Given the description of an element on the screen output the (x, y) to click on. 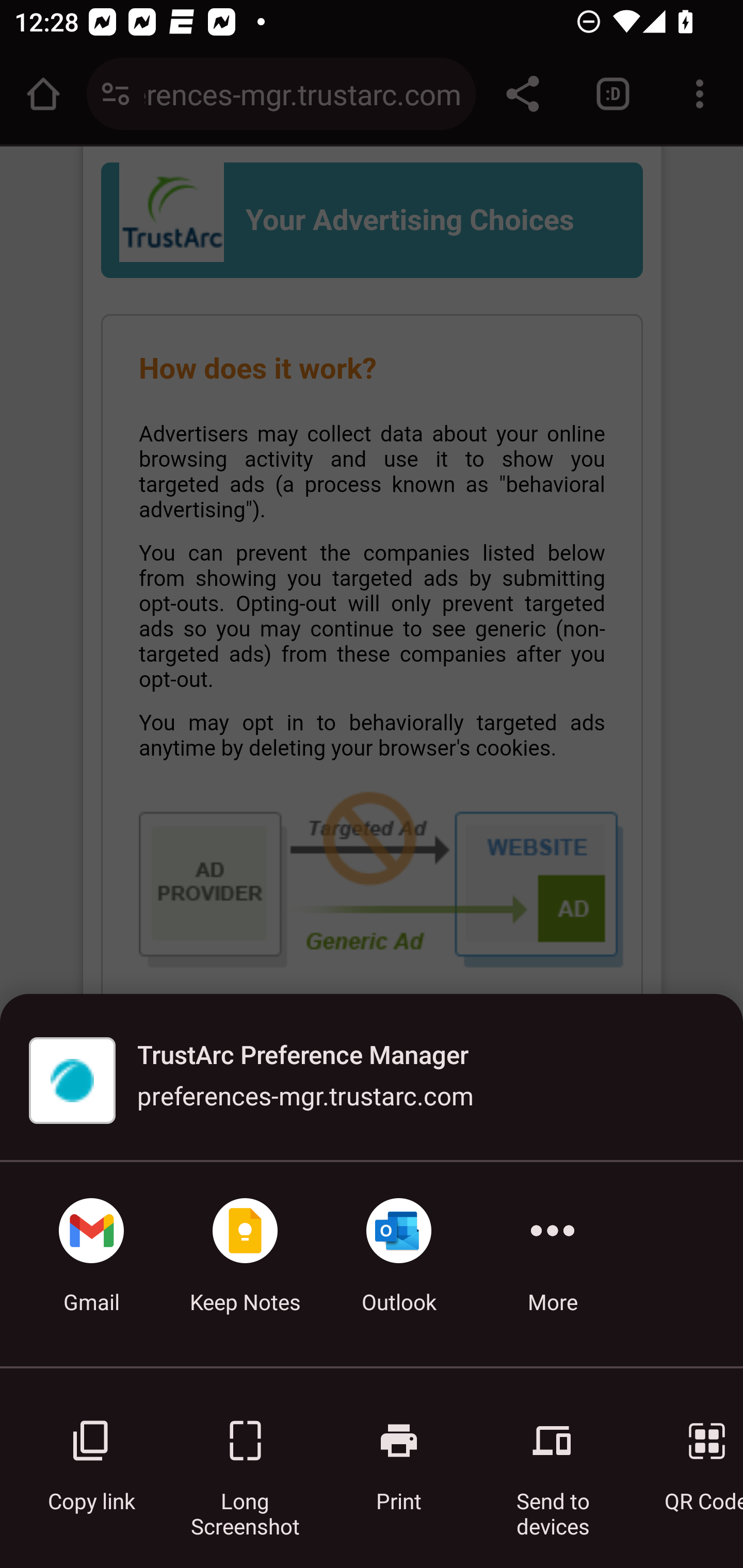
Gmail (90, 1263)
Keep Notes (244, 1263)
Outlook (398, 1263)
More (552, 1263)
Copy link (90, 1454)
Long Screenshot (244, 1454)
Print (398, 1454)
Send to devices (552, 1454)
QR Code (693, 1454)
